Given the description of an element on the screen output the (x, y) to click on. 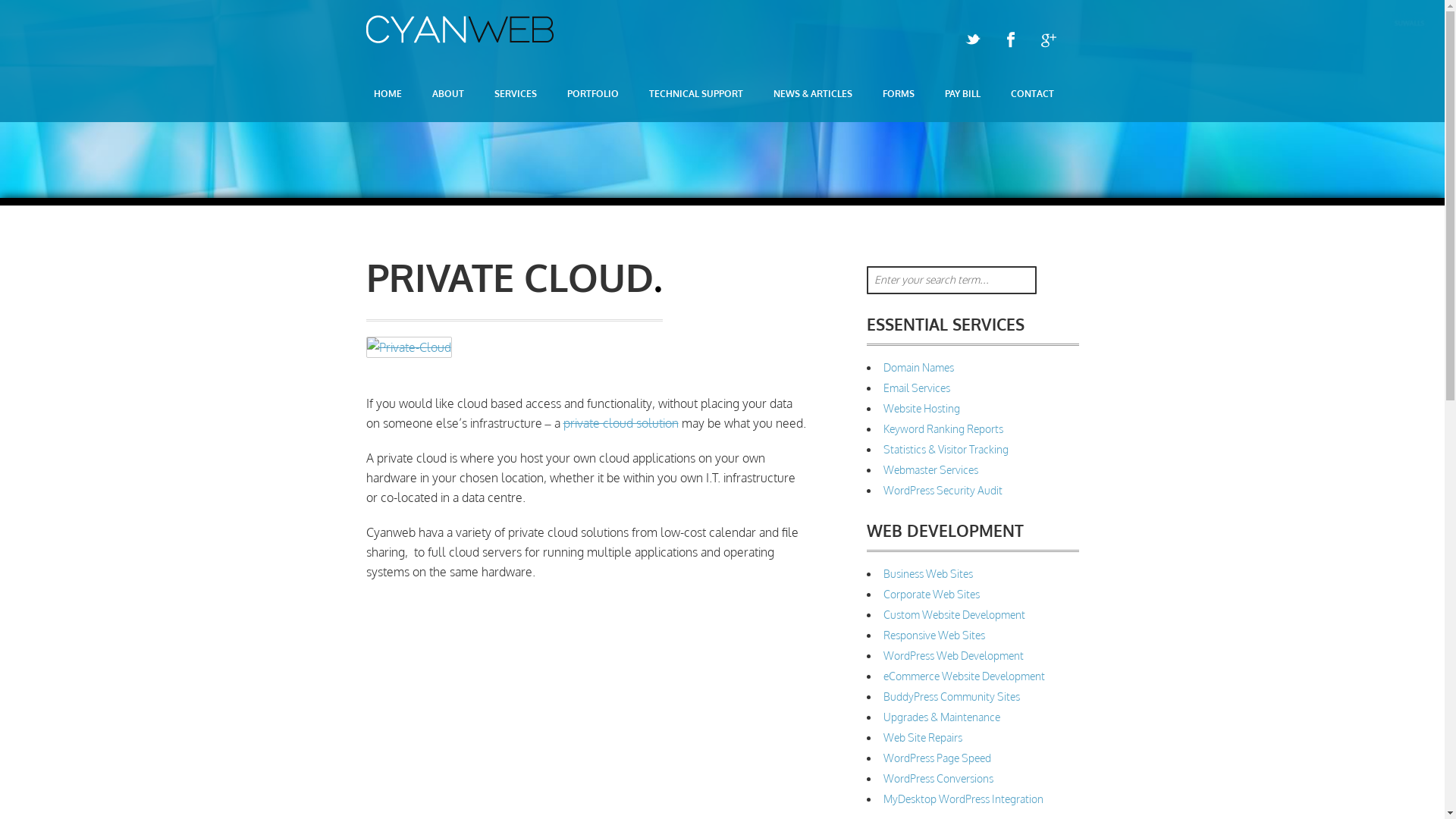
Website Hosting Element type: text (920, 407)
View Twitter Profile Element type: hover (971, 40)
Custom Website Development Element type: text (953, 614)
SERVICES Element type: text (515, 93)
Business Web Sites Element type: text (927, 573)
WordPress Web Development Element type: text (952, 655)
ABOUT Element type: text (447, 93)
View Facebook Profile Element type: hover (1009, 40)
MyDesktop WordPress Integration Element type: text (962, 798)
Keyword Ranking Reports Element type: text (942, 428)
Statistics & Visitor Tracking Element type: text (944, 448)
WordPress Page Speed Element type: text (936, 757)
WordPress Conversions Element type: text (937, 777)
CONTACT Element type: text (1031, 93)
TECHNICAL SUPPORT Element type: text (695, 93)
Corporate Web Sites Element type: text (930, 593)
eCommerce Website Development Element type: text (963, 675)
NEWS & ARTICLES Element type: text (812, 93)
View Google + Profile Element type: hover (1047, 40)
PORTFOLIO Element type: text (592, 93)
private cloud solution Element type: text (619, 422)
FORMS Element type: text (898, 93)
Responsive Web Sites Element type: text (933, 634)
Web Site Repairs Element type: text (921, 737)
HOME Element type: text (386, 93)
Webmaster Services Element type: text (929, 469)
Upgrades & Maintenance Element type: text (940, 716)
WordPress Security Audit Element type: text (941, 489)
PAY BILL Element type: text (962, 93)
Cyanweb, Perth WA Element type: hover (458, 38)
Email Services Element type: text (915, 387)
BuddyPress Community Sites Element type: text (950, 696)
Domain Names Element type: text (917, 366)
